Given the description of an element on the screen output the (x, y) to click on. 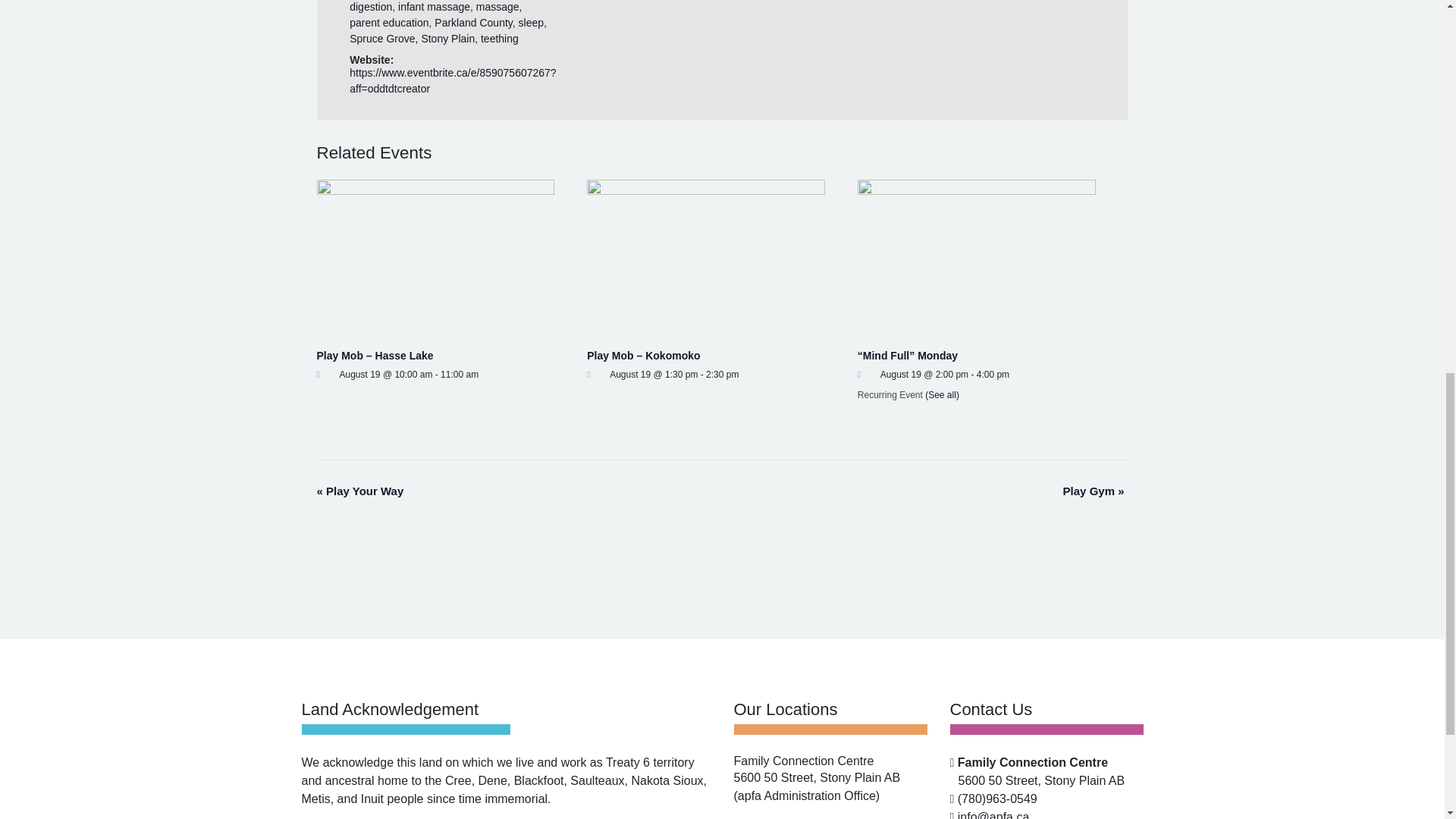
massage (497, 6)
infant massage (433, 6)
digestion (370, 6)
Spruce Grove (381, 38)
teething (499, 38)
parent education (388, 22)
Stony Plain (447, 38)
Parkland County (472, 22)
sleep (530, 22)
